Given the description of an element on the screen output the (x, y) to click on. 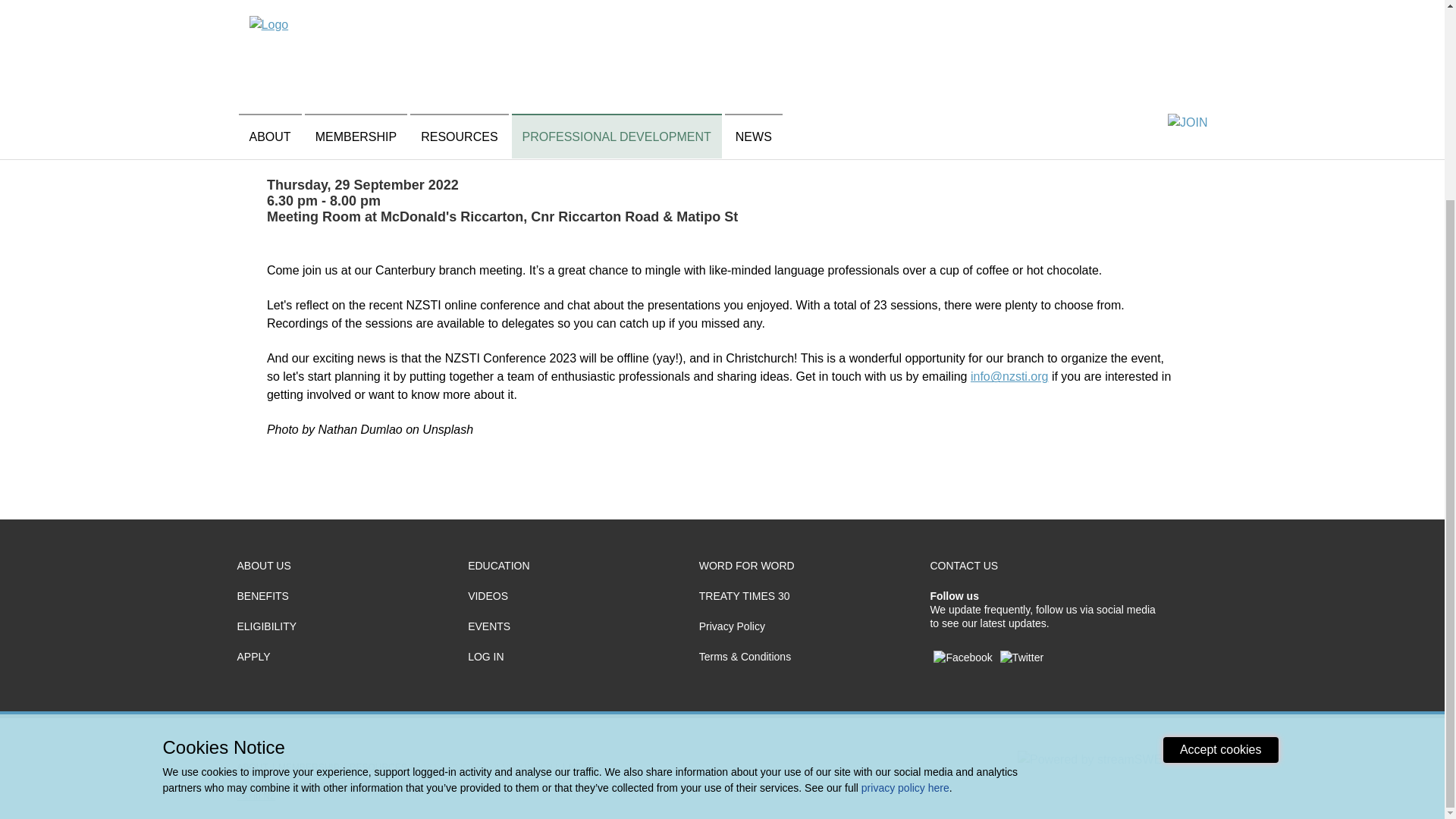
privacy policy here (905, 532)
Accept cookies (1220, 494)
Accept cookies (1220, 494)
Twitter (1021, 657)
Facebook (962, 657)
